Given the description of an element on the screen output the (x, y) to click on. 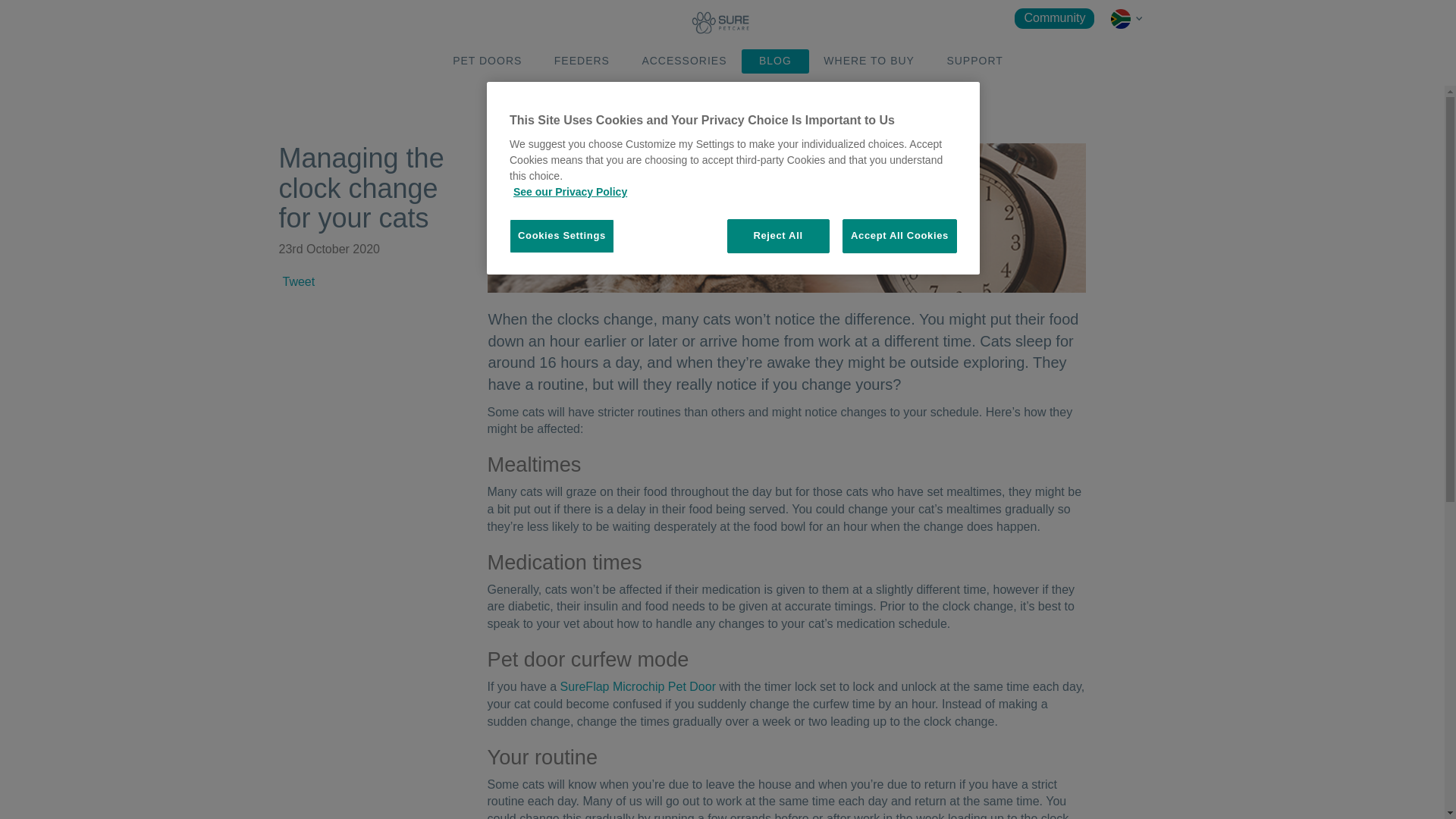
Community (1053, 17)
BLOG (775, 60)
ACCESSORIES (684, 60)
Microchip Pet Door (638, 686)
FEEDERS (582, 60)
SUPPORT (974, 60)
WHERE TO BUY (869, 60)
Created with Snap (1138, 19)
PET DOORS (486, 60)
